Given the description of an element on the screen output the (x, y) to click on. 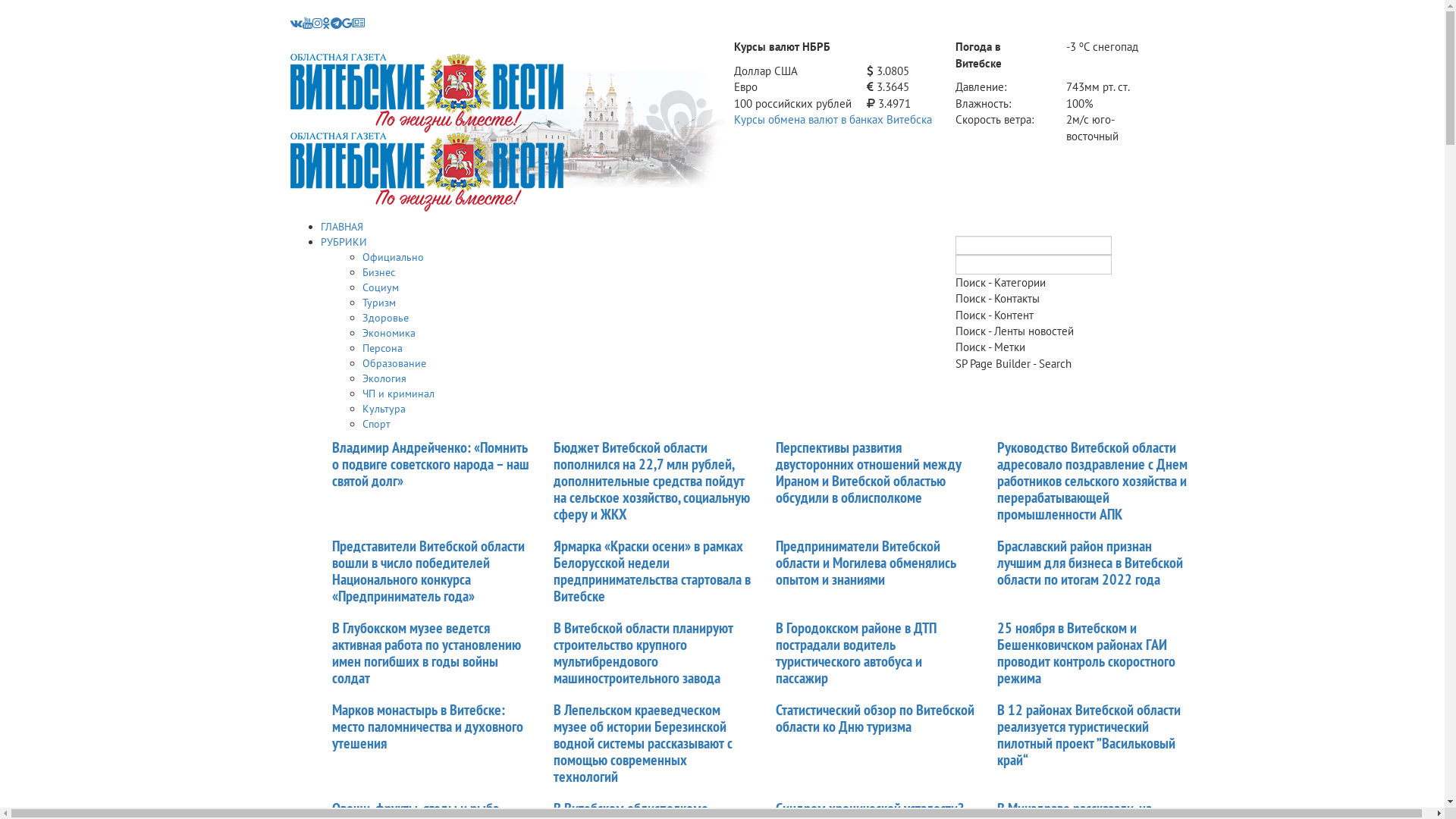
OK.RU Element type: hover (325, 22)
Youtube Element type: hover (306, 22)
Instagram Element type: hover (317, 22)
Telegram Element type: hover (336, 22)
